Given the description of an element on the screen output the (x, y) to click on. 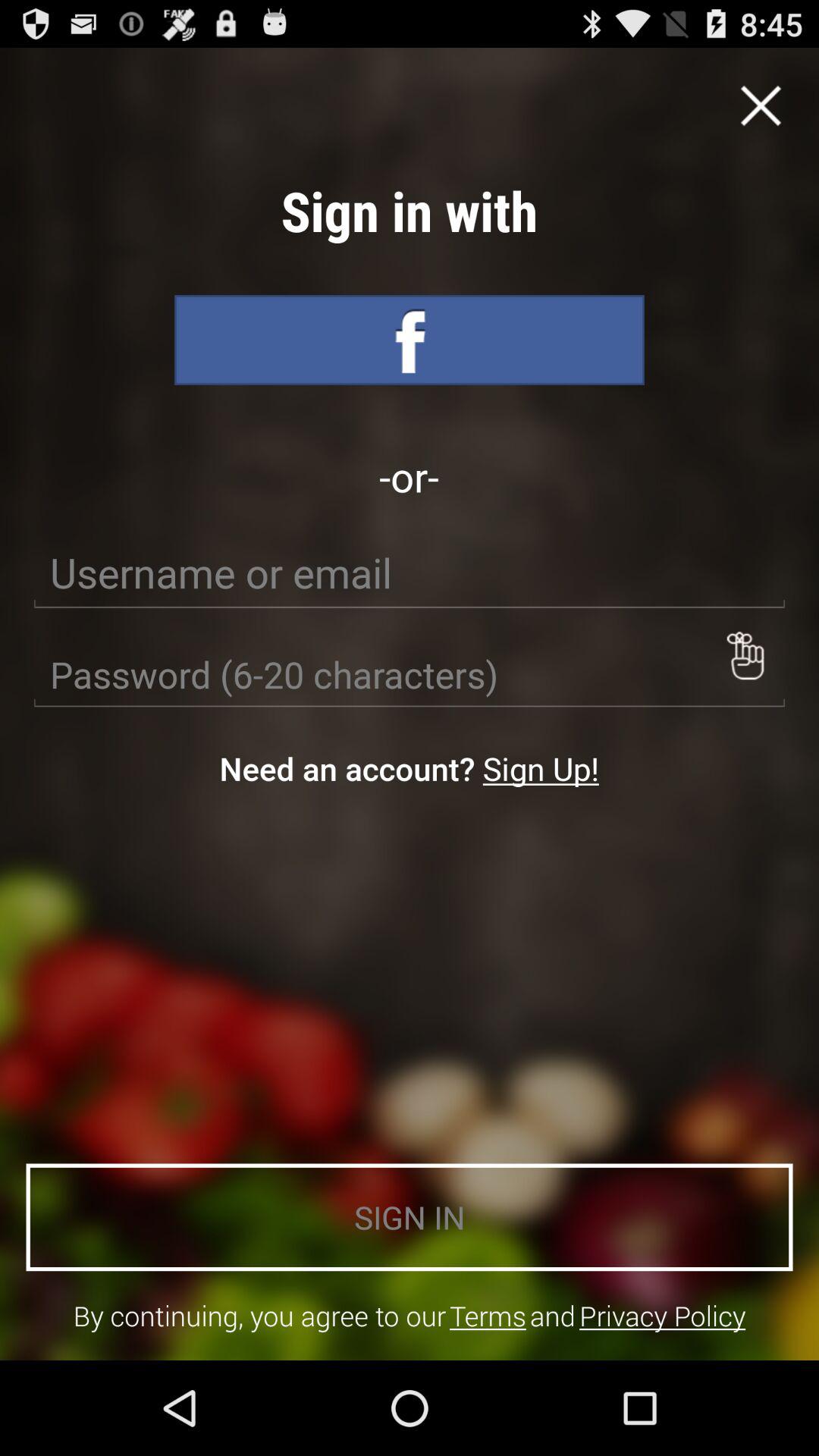
press the icon next to the need an account? item (540, 767)
